Given the description of an element on the screen output the (x, y) to click on. 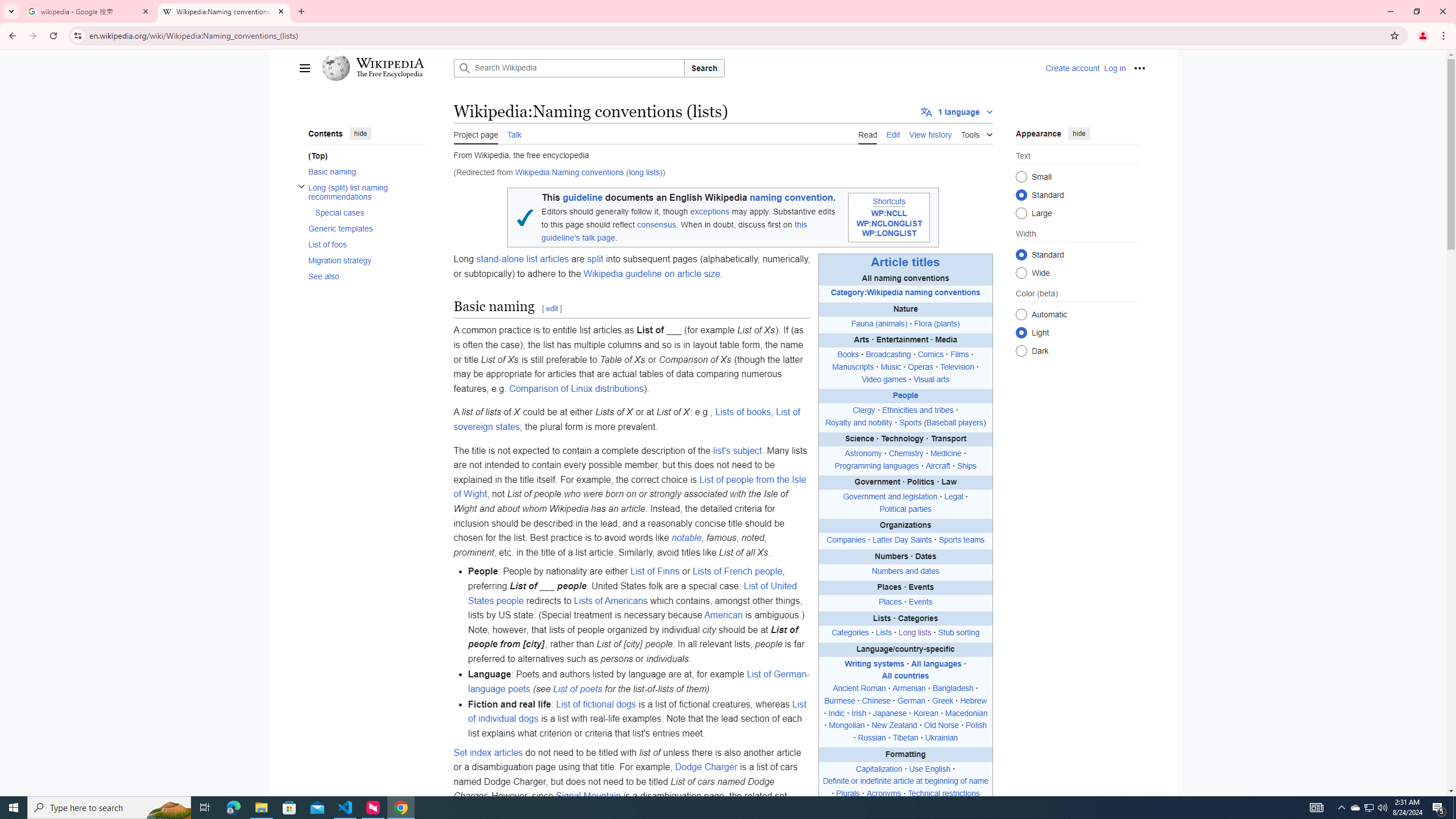
AutomationID: toc-Special_cases (368, 211)
Automatic (1020, 313)
Korean (925, 712)
Operas (920, 366)
Small (1020, 176)
AutomationID: toc-See_also (365, 275)
Wikipedia The Free Encyclopedia (384, 68)
Lists of Americans (610, 600)
AutomationID: ca-talk (514, 133)
Royalty and nobility (858, 422)
WP:NCLL (888, 212)
German (911, 700)
